Given the description of an element on the screen output the (x, y) to click on. 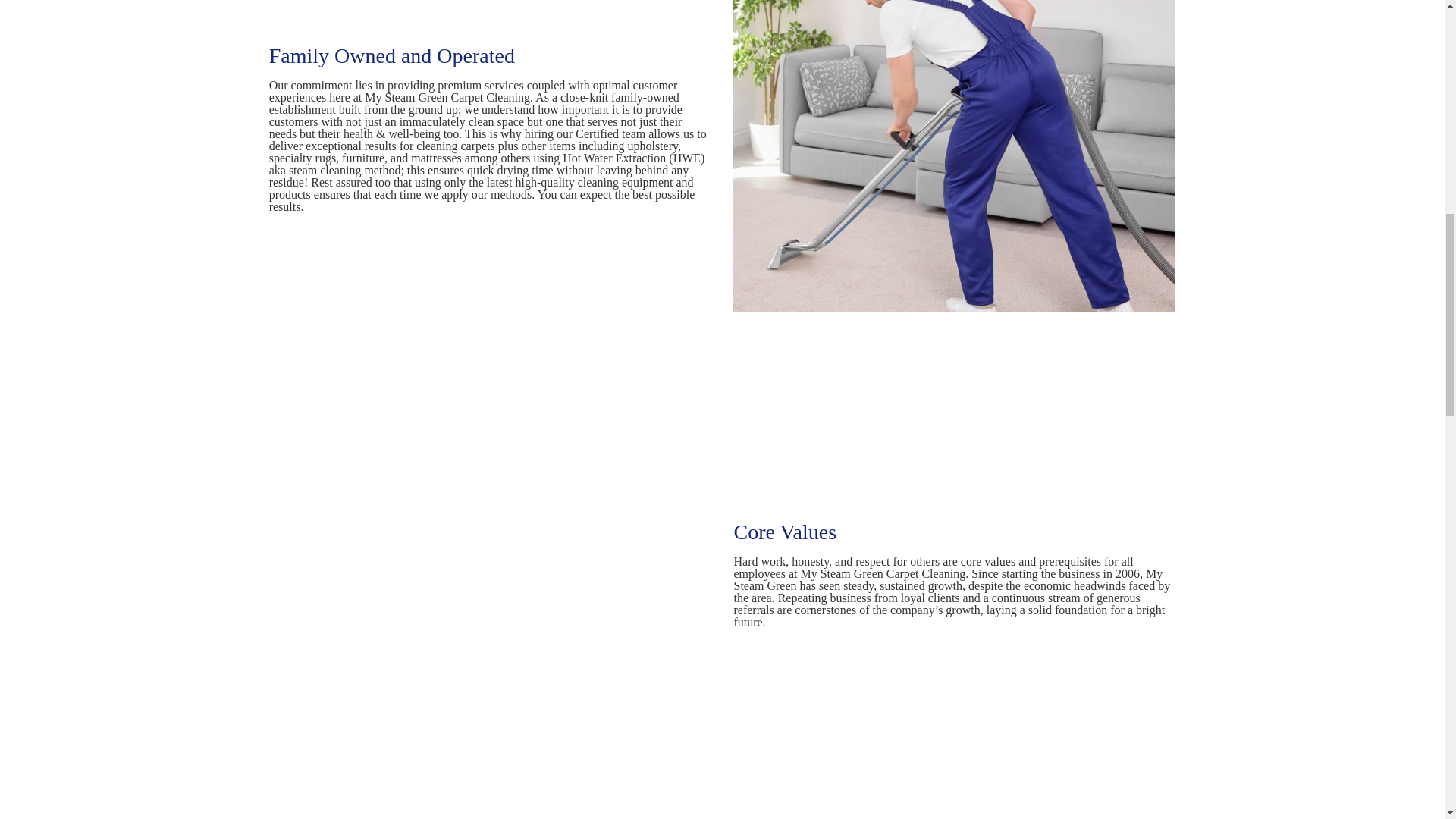
carpet-cleaning-education (953, 814)
